Given the description of an element on the screen output the (x, y) to click on. 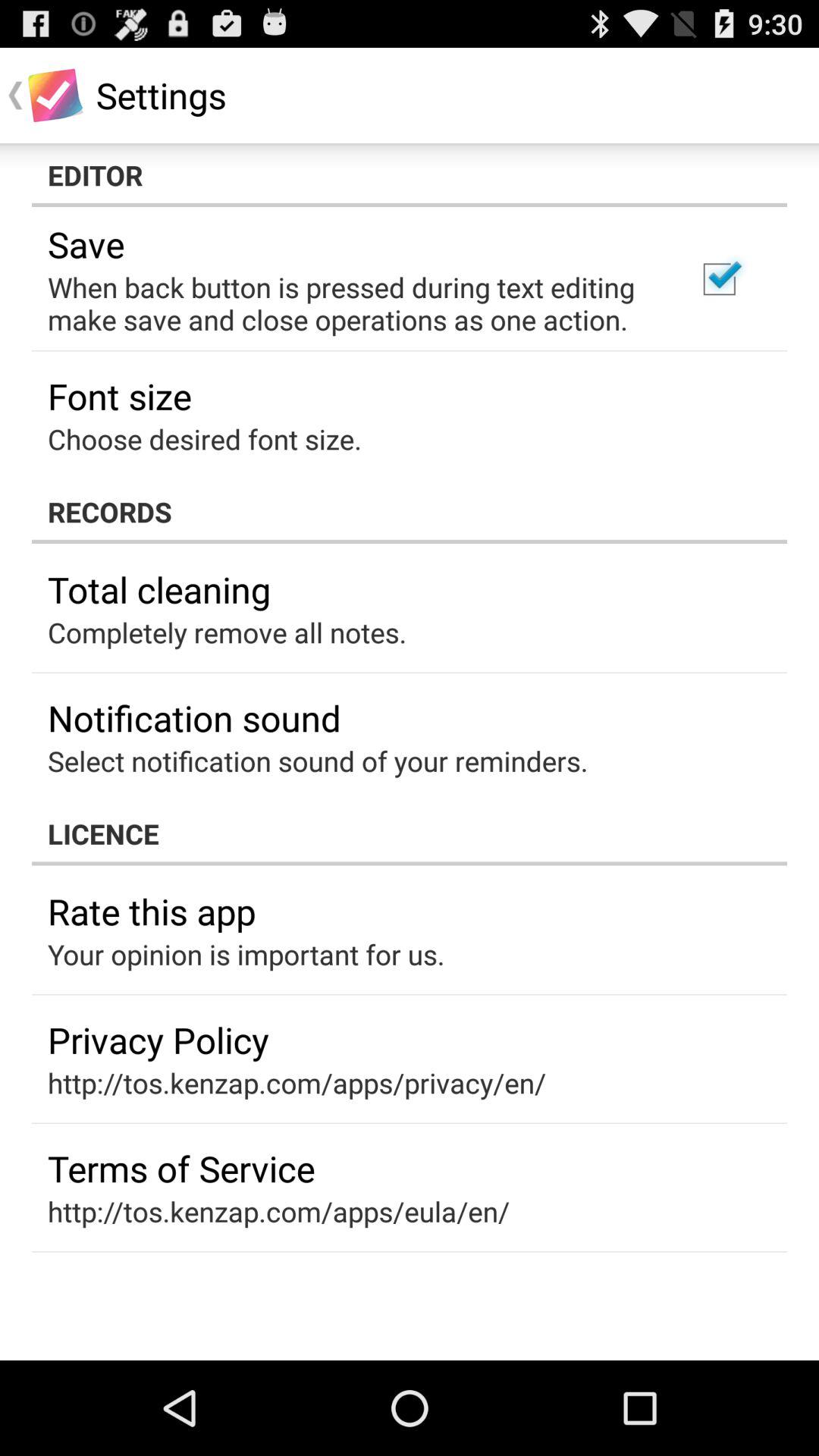
turn on app above the records (719, 279)
